Given the description of an element on the screen output the (x, y) to click on. 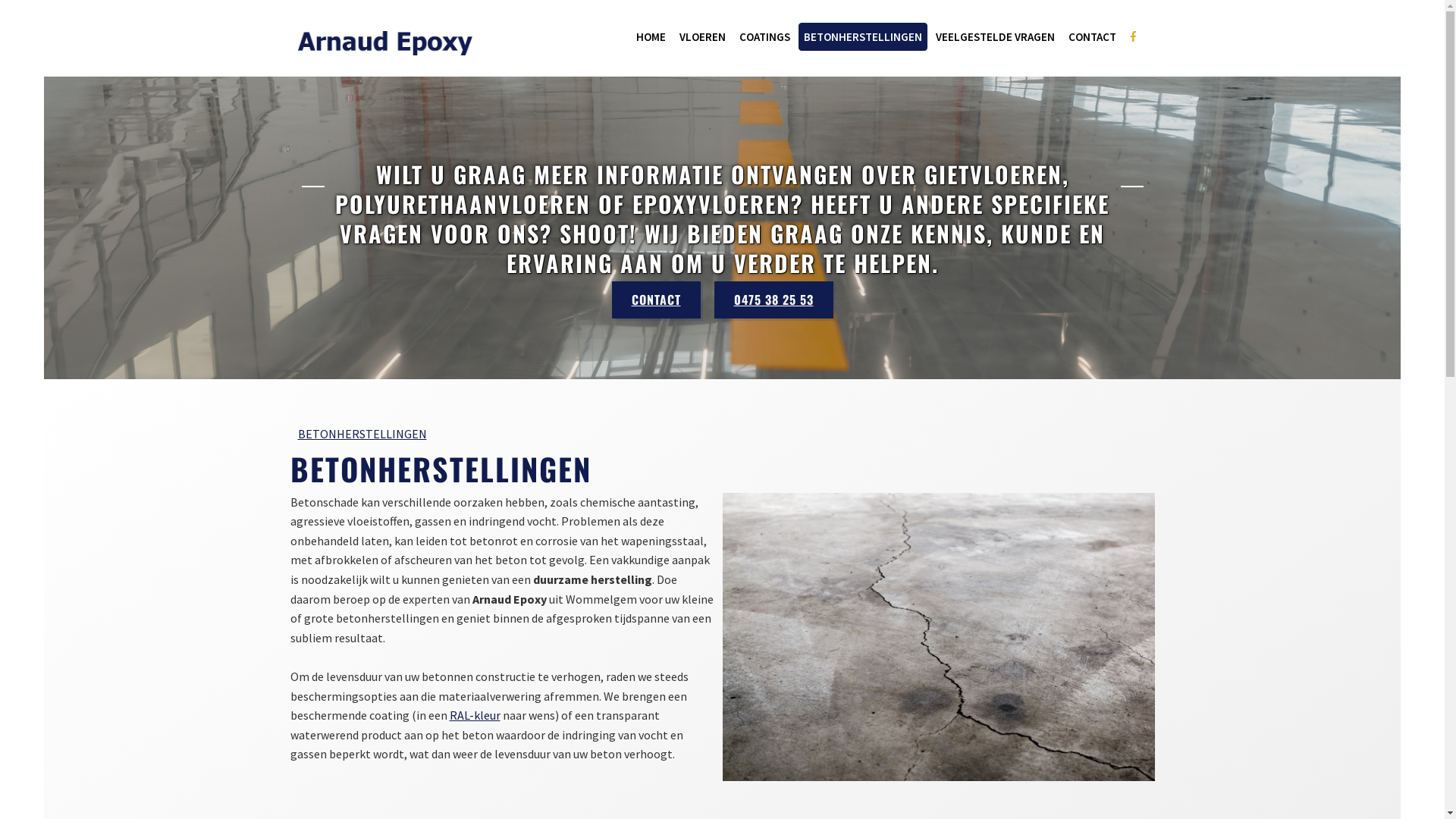
VLOEREN Element type: text (701, 36)
HOME Element type: text (650, 36)
CONTACT Element type: text (655, 299)
0475 38 25 53 Element type: text (773, 299)
BETONHERSTELLINGEN Element type: text (861, 36)
CONTACT Element type: text (1092, 36)
RAL-kleur Element type: text (473, 714)
COATINGS Element type: text (764, 36)
BETONHERSTELLINGEN Element type: text (361, 433)
VEELGESTELDE VRAGEN Element type: text (994, 36)
